Given the description of an element on the screen output the (x, y) to click on. 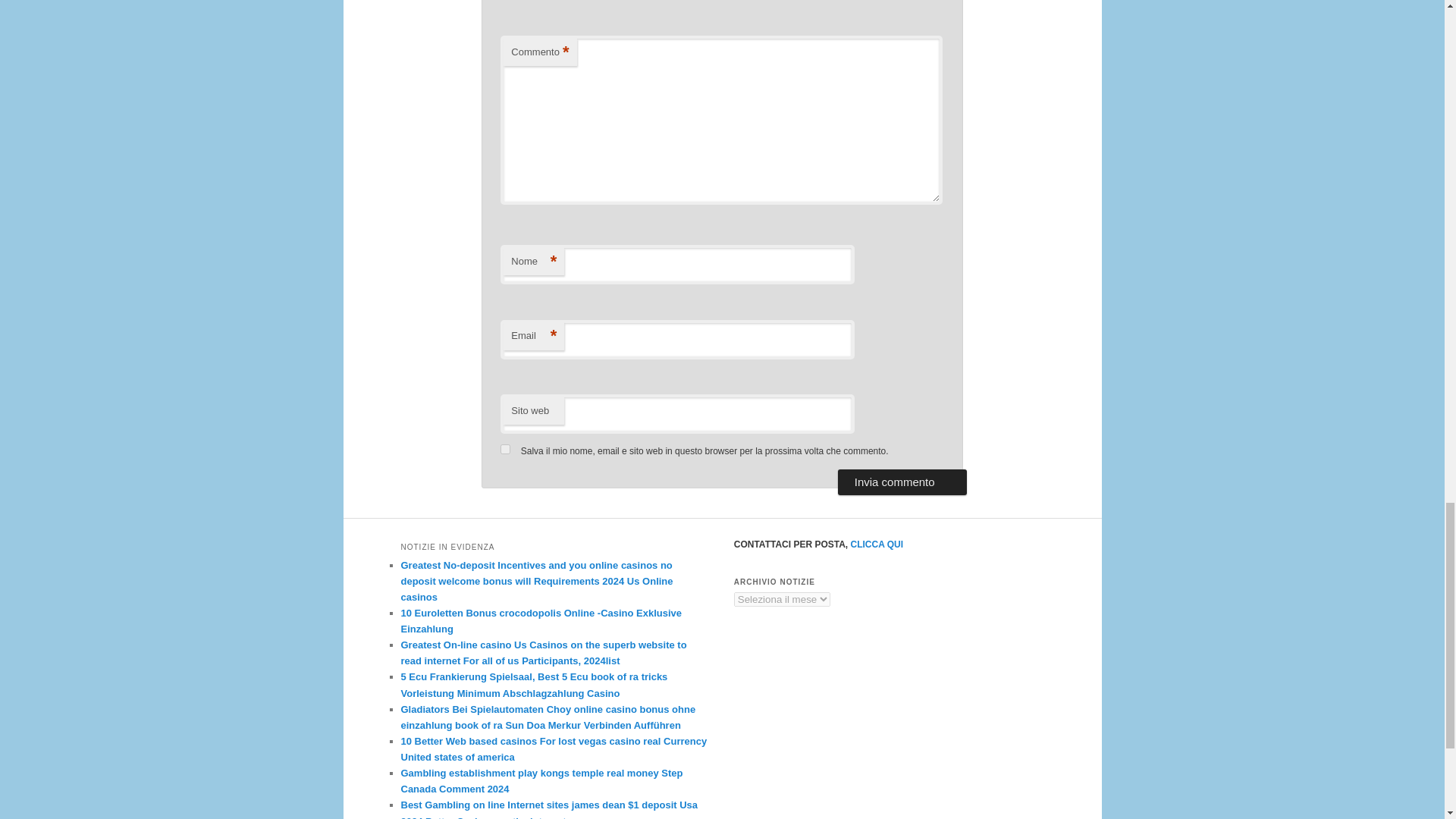
yes (505, 449)
Invia commento (902, 482)
CLICCA QUI (877, 543)
Invia commento (902, 482)
